Given the description of an element on the screen output the (x, y) to click on. 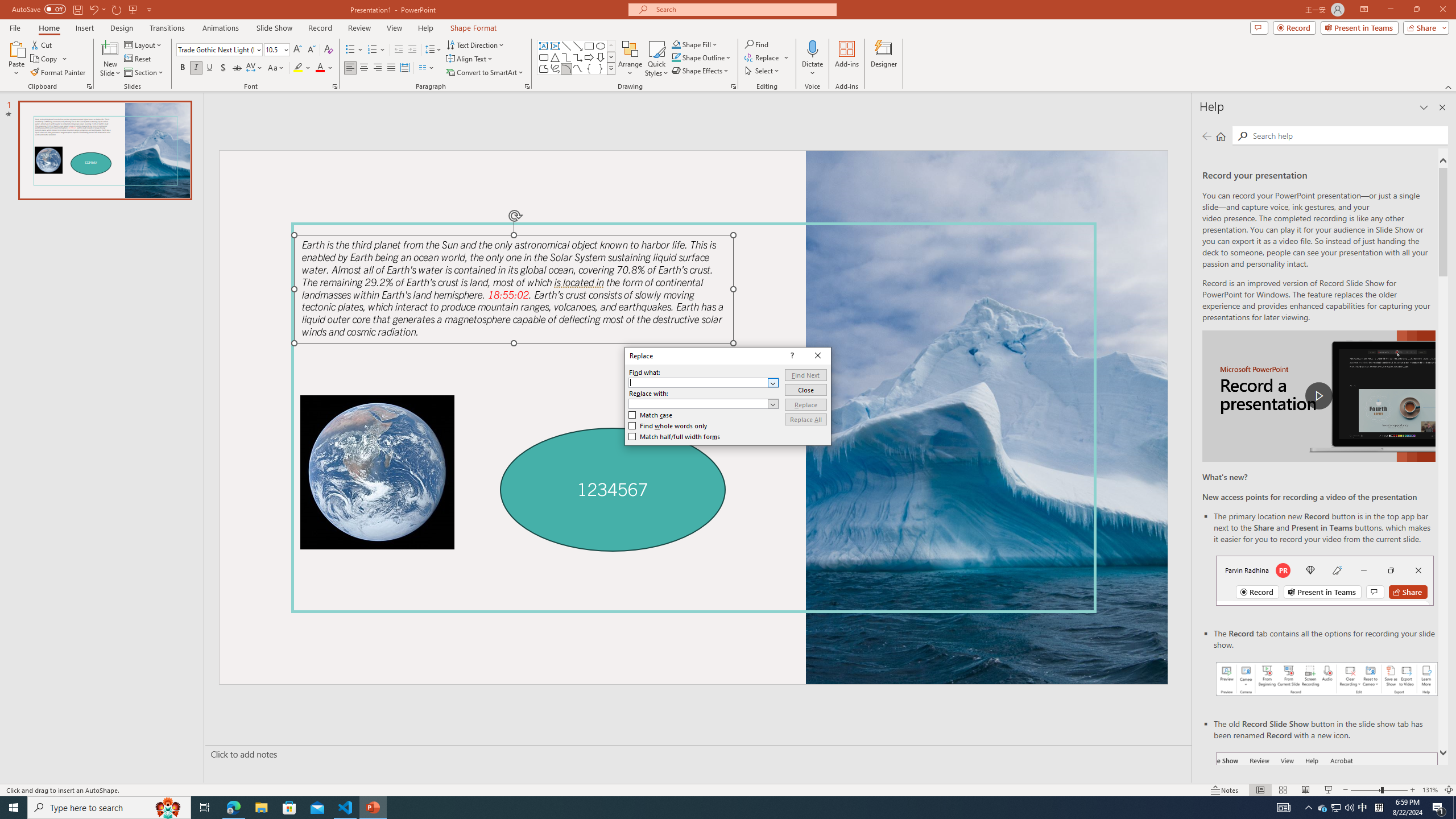
Arrange (630, 58)
Shape Effects (700, 69)
Line (566, 45)
User Promoted Notification Area (1336, 807)
Font Color Red (320, 67)
Zoom 131% (1430, 790)
Running applications (700, 807)
Match case (650, 414)
Shapes (611, 68)
